Given the description of an element on the screen output the (x, y) to click on. 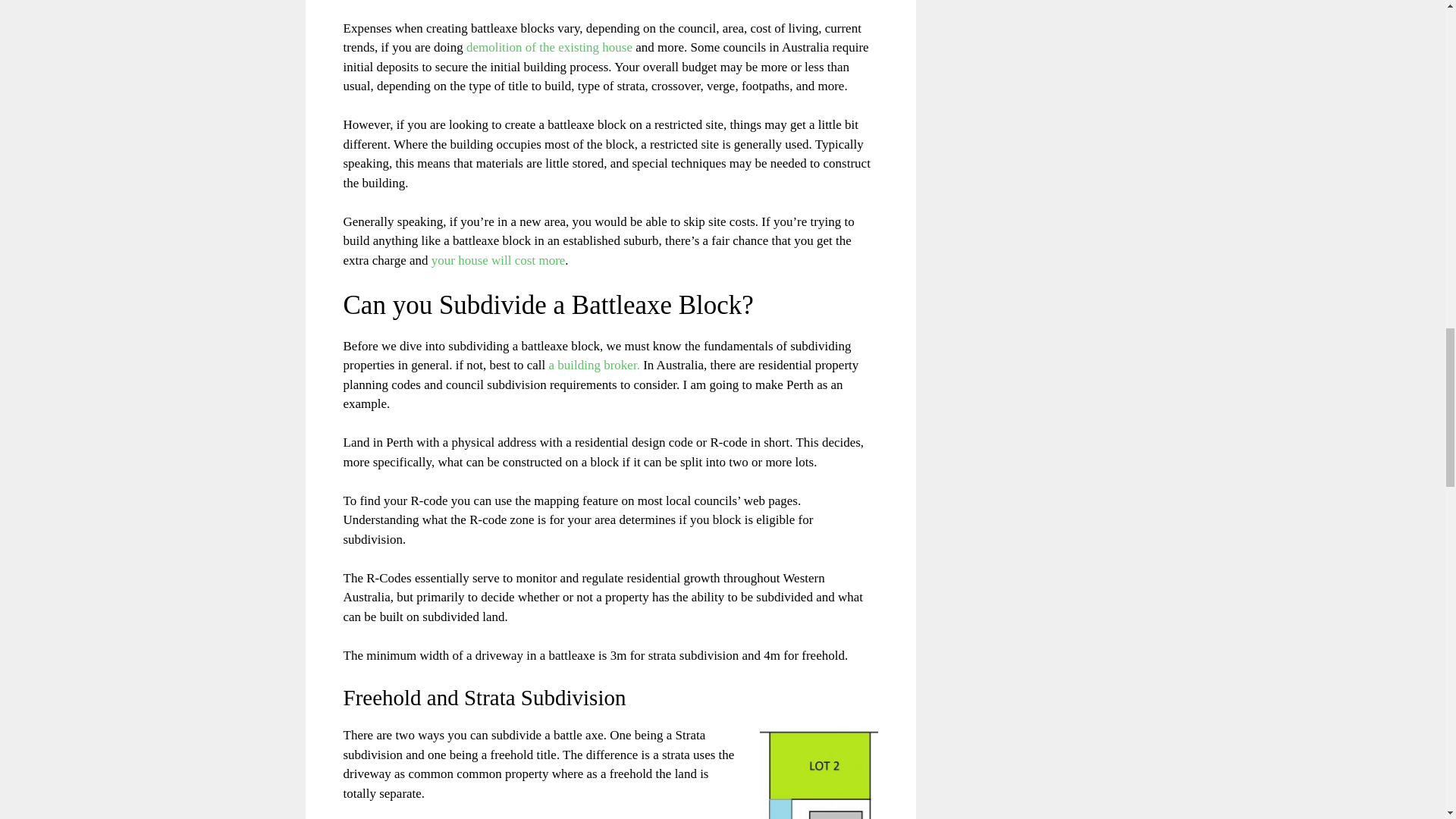
your house will cost more (498, 260)
demolition of the existing house (548, 47)
a building broker. (593, 364)
